Given the description of an element on the screen output the (x, y) to click on. 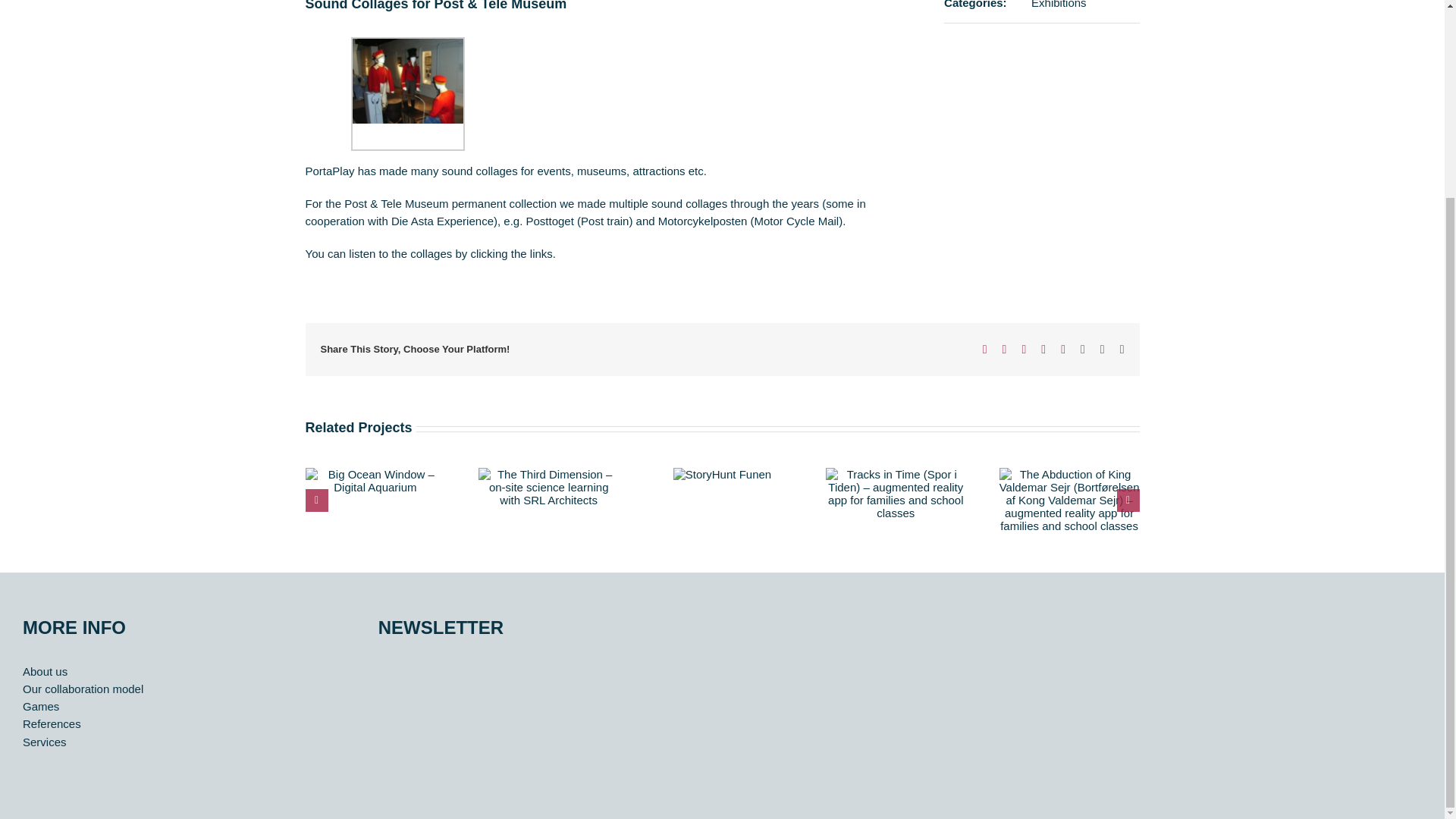
Exhibitions (1058, 4)
Posttoget (549, 220)
Motorcykelposten (703, 220)
